Given the description of an element on the screen output the (x, y) to click on. 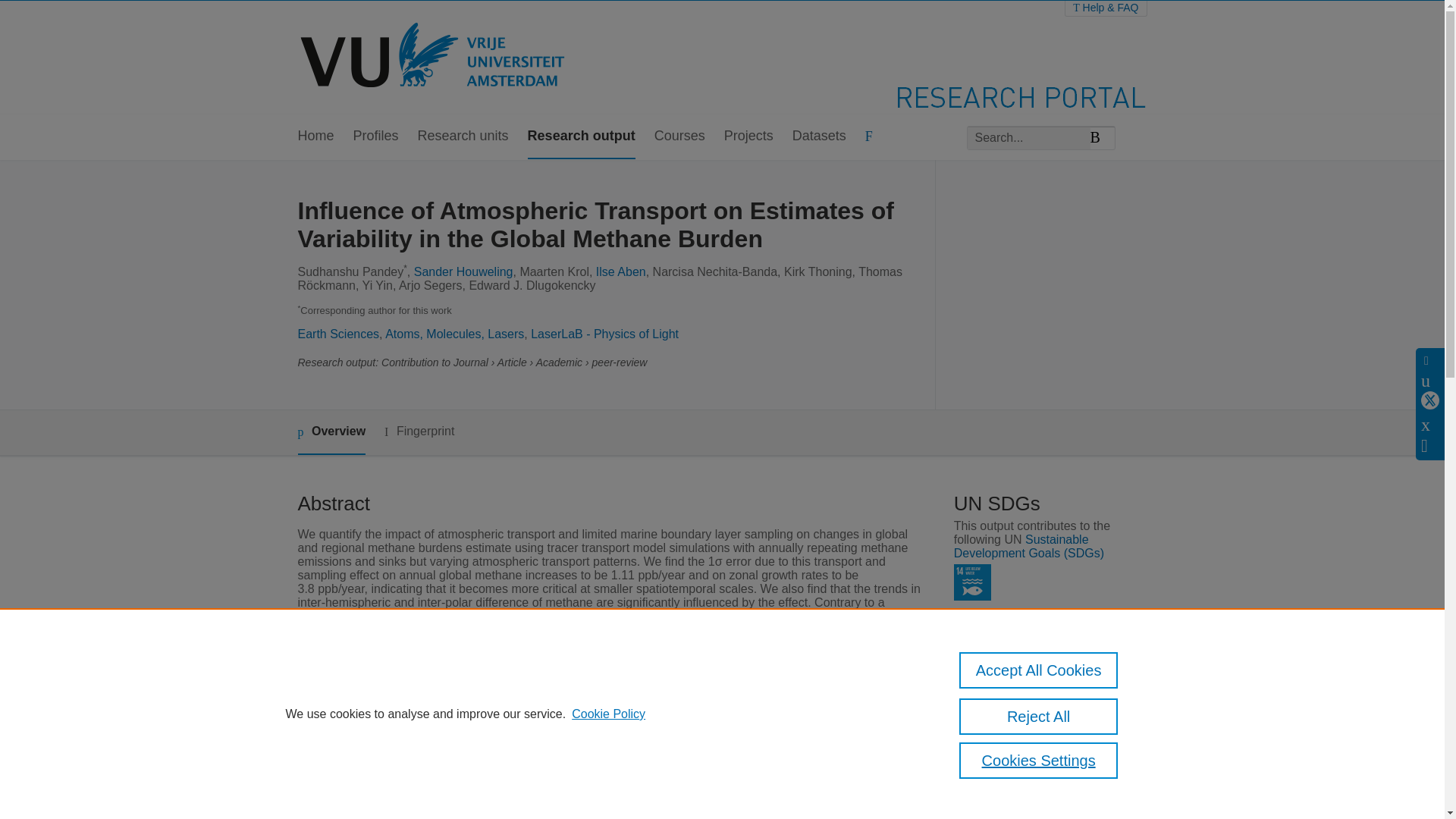
LaserLaB - Physics of Light (604, 333)
Earth Sciences (337, 333)
Profiles (375, 136)
link to publication in Scopus (1043, 782)
Ilse Aben (620, 271)
Geophysical Research Letters (589, 748)
Sander Houweling (463, 271)
Courses (678, 136)
Overview (331, 432)
